Given the description of an element on the screen output the (x, y) to click on. 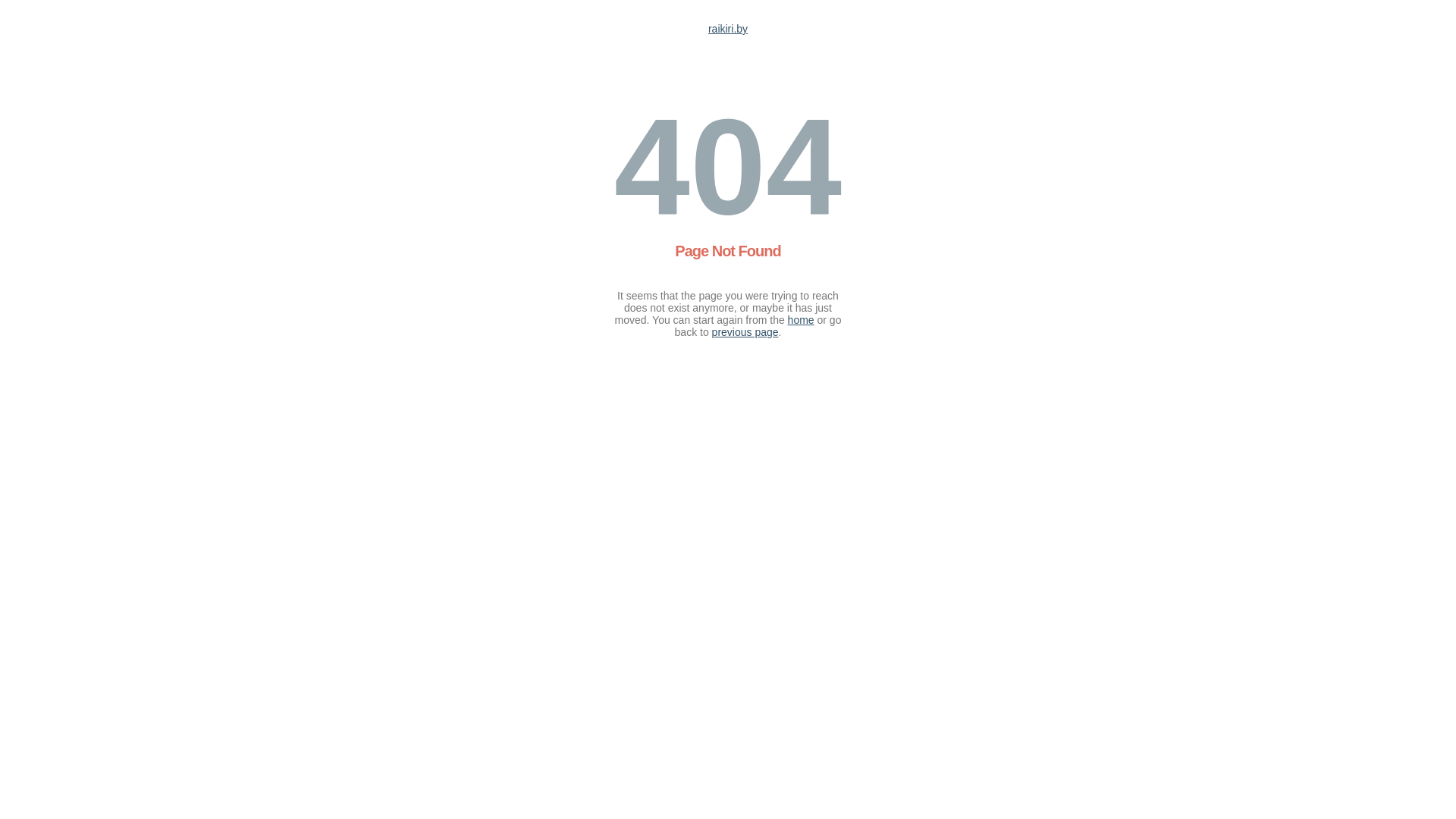
home Element type: text (800, 319)
previous page Element type: text (745, 332)
raikiri.by Element type: text (727, 28)
